Given the description of an element on the screen output the (x, y) to click on. 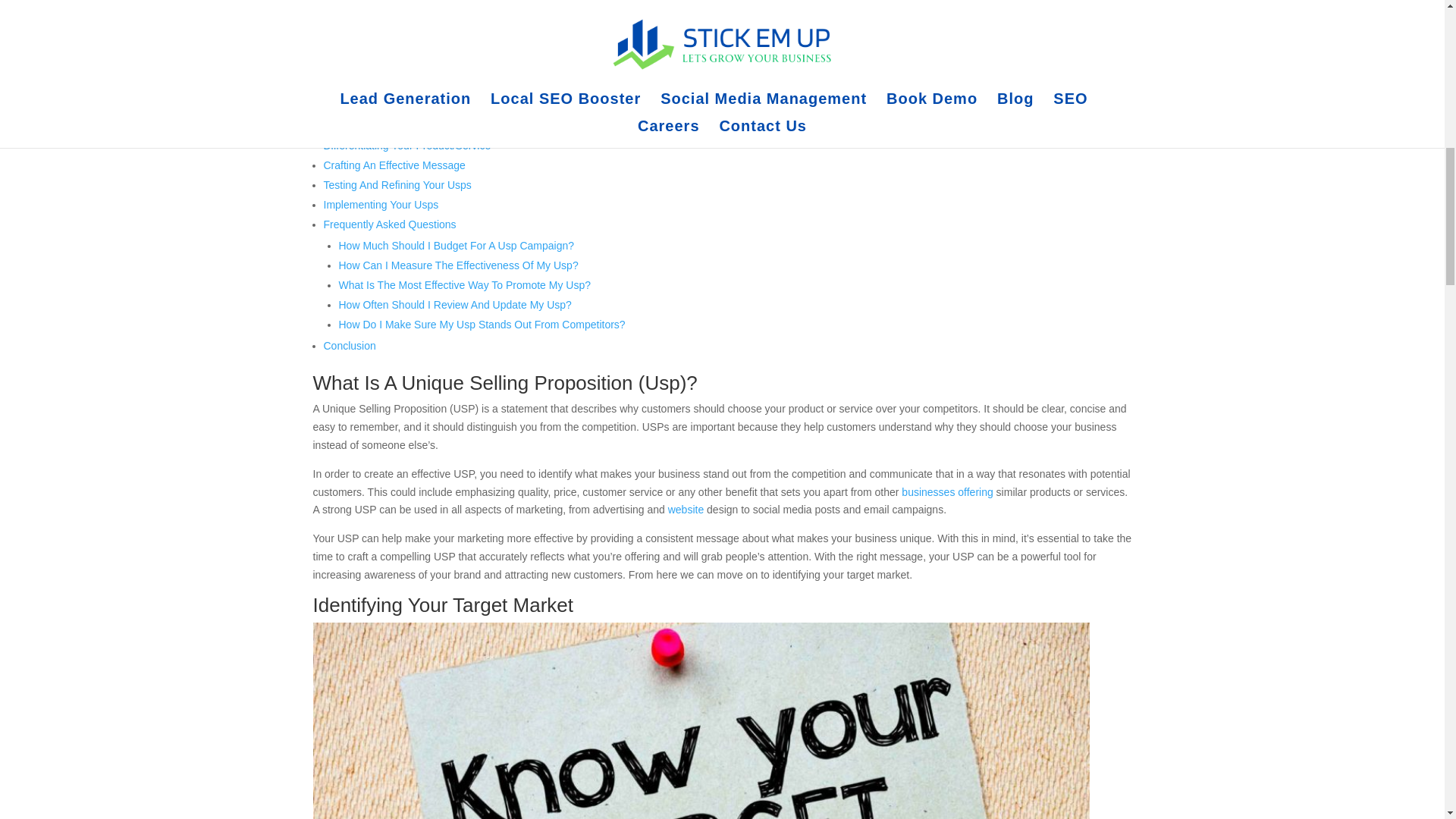
Implementing Your Usps (380, 204)
How Do I Make Sure My Usp Stands Out From Competitors? (480, 324)
How Can I Measure The Effectiveness Of My Usp? (457, 265)
Frequently Asked Questions (389, 224)
How Much Should I Budget For A Usp Campaign? (455, 245)
Conclusion (349, 345)
Testing And Refining Your Usps (396, 184)
How Often Should I Review And Update My Usp? (453, 304)
website (685, 509)
Identifying Your Target Market (393, 125)
businesses offering (946, 491)
What Is The Most Effective Way To Promote My Usp? (464, 285)
Crafting An Effective Message (393, 164)
